Given the description of an element on the screen output the (x, y) to click on. 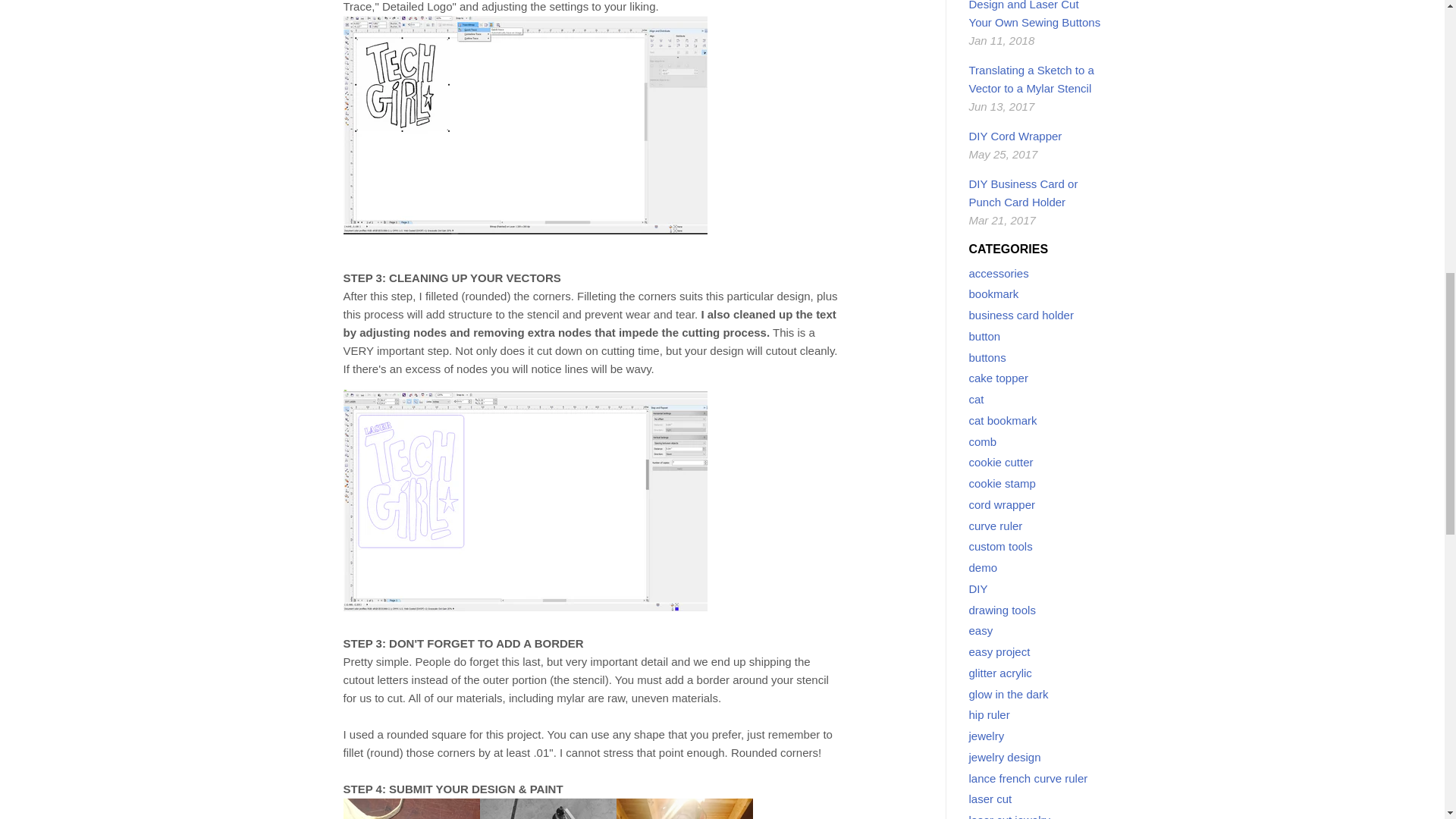
Show articles tagged button (985, 336)
Show articles tagged comb (983, 440)
Show articles tagged DIY (978, 588)
Show articles tagged custom tools (1000, 545)
Show articles tagged cookie stamp (1002, 482)
Show articles tagged cookie cutter (1001, 461)
Show articles tagged accessories (999, 273)
Show articles tagged business card holder (1021, 314)
Show articles tagged curve ruler (996, 525)
Show articles tagged demo (983, 567)
Show articles tagged cat (976, 399)
Show articles tagged drawing tools (1002, 609)
Design and Laser Cut Your Own Sewing Buttons (1034, 14)
Show articles tagged bookmark (994, 293)
Show articles tagged cat bookmark (1002, 420)
